Given the description of an element on the screen output the (x, y) to click on. 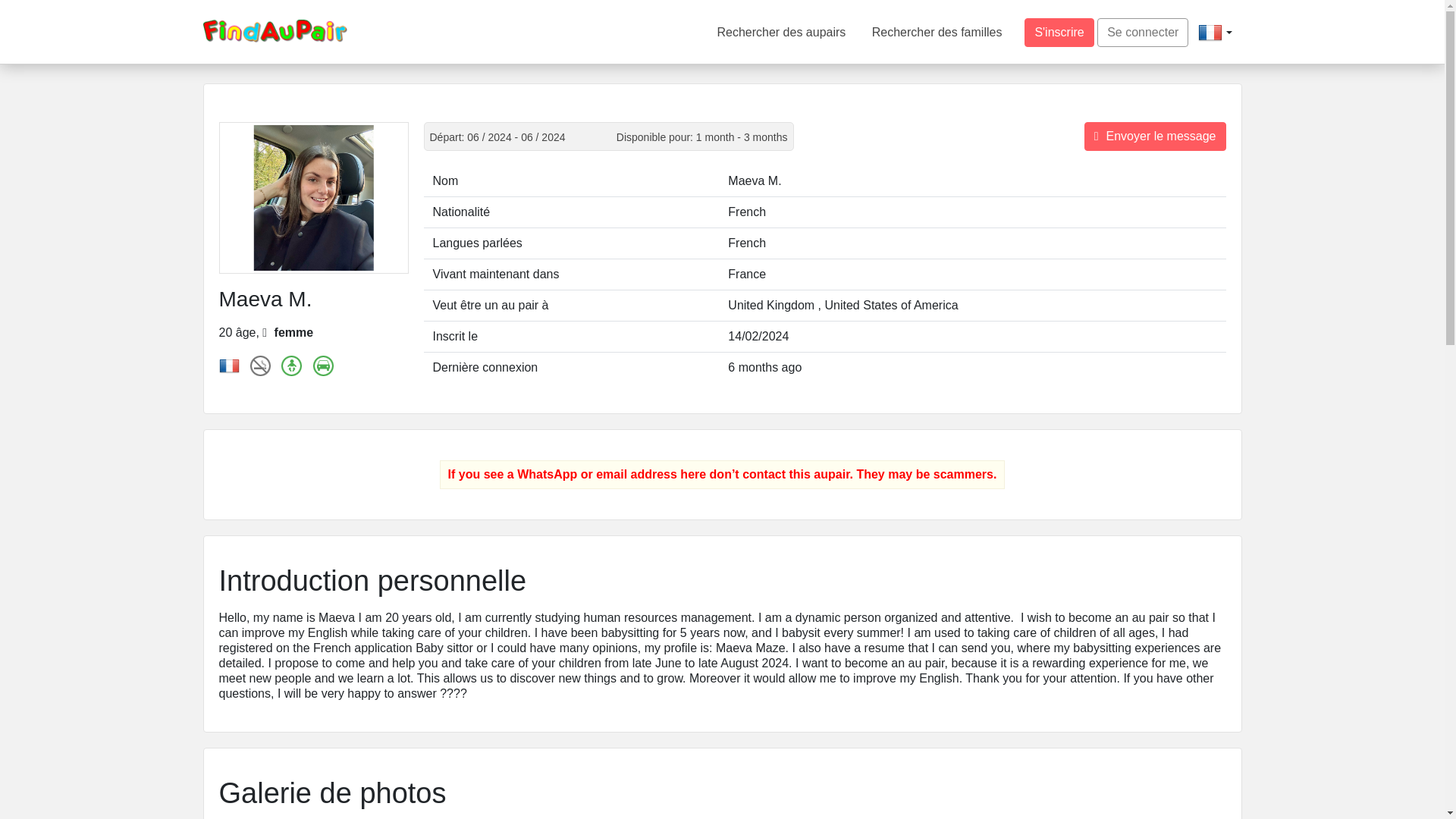
Findaupair (275, 30)
Rechercher des familles (937, 31)
Rechercher des aupairs (780, 31)
Se connecter (1142, 32)
S'inscrire (1059, 32)
Envoyer le message (1154, 136)
